Given the description of an element on the screen output the (x, y) to click on. 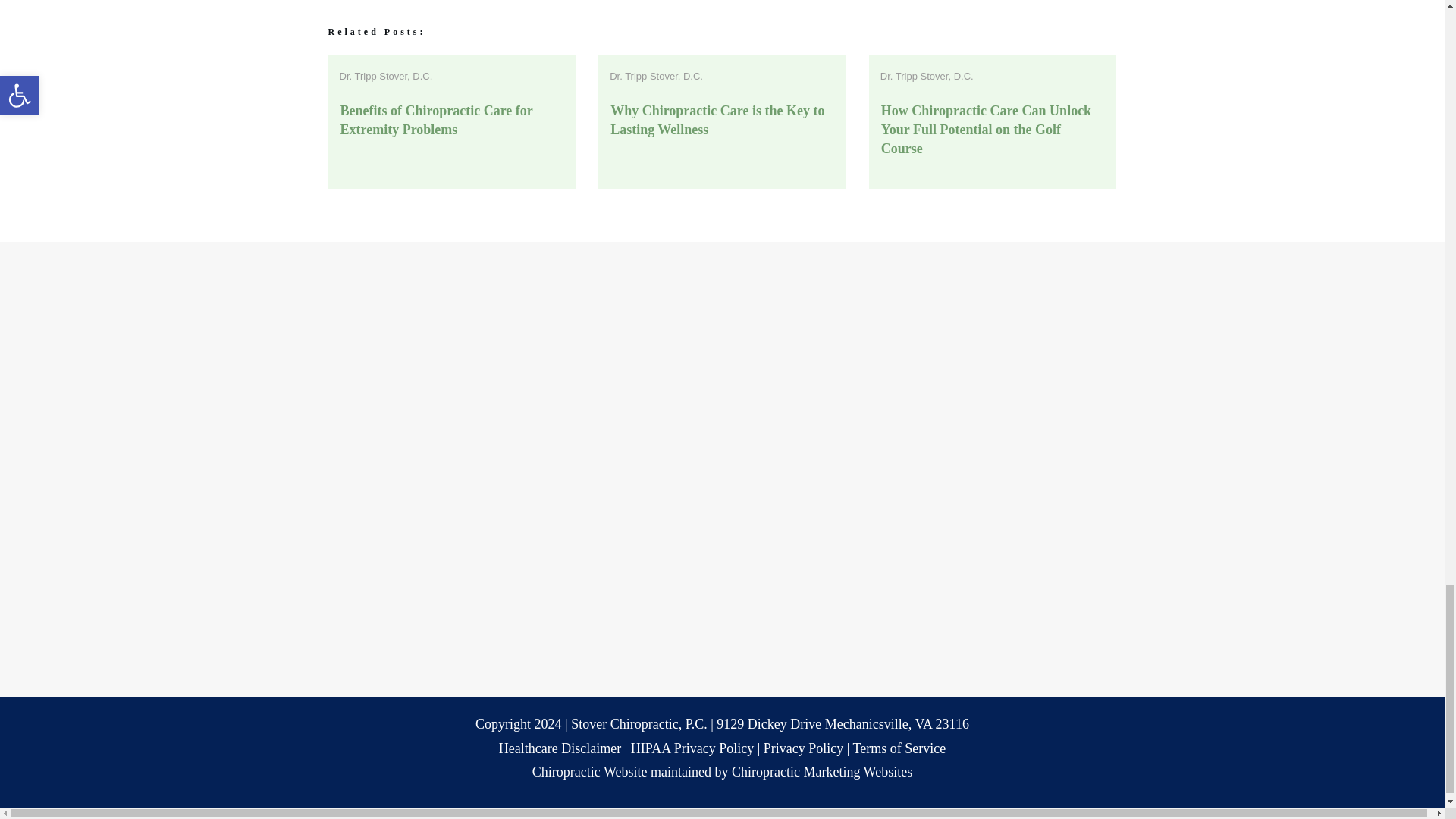
Privacy Policy (803, 748)
Terms of Service (899, 748)
Why Chiropractic Care is the Key to Lasting Wellness (717, 120)
Chiropractic Website (589, 771)
Benefits of Chiropractic Care for Extremity Problems (435, 120)
HIPAA Privacy Policy (692, 748)
Healthcare Disclaimer (560, 748)
